Given the description of an element on the screen output the (x, y) to click on. 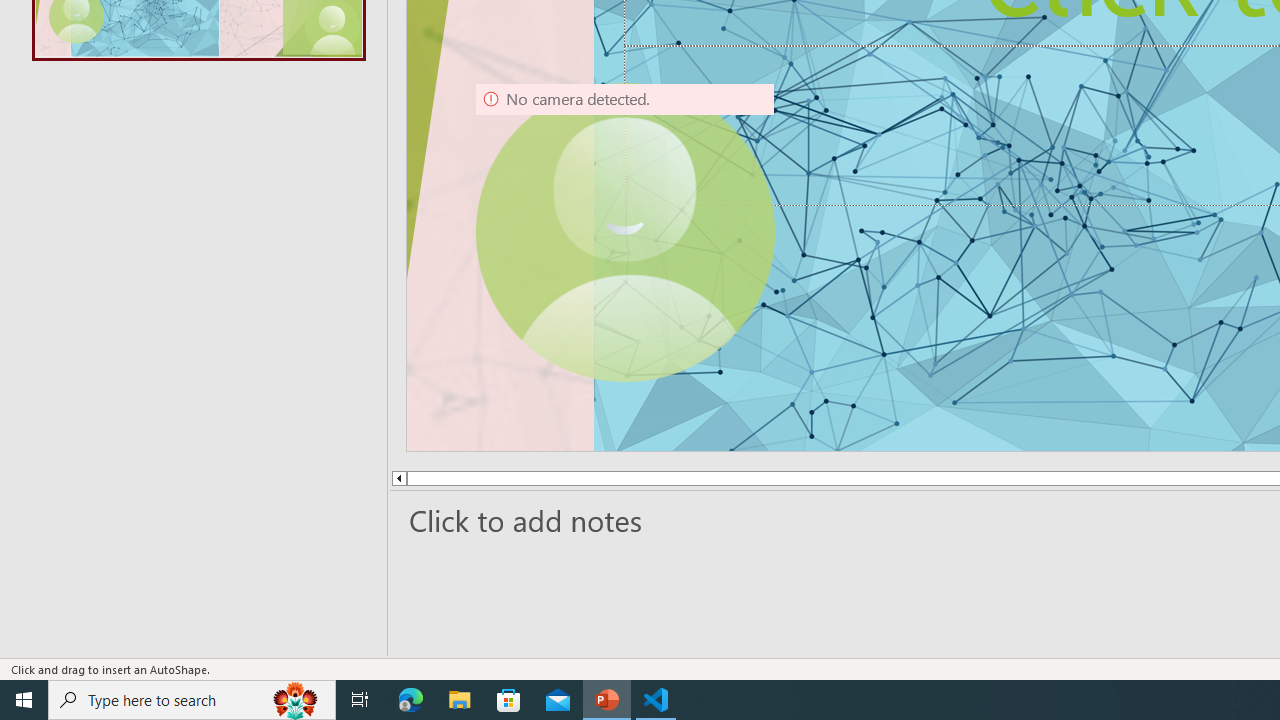
Camera 9, No camera detected. (624, 232)
